Given the description of an element on the screen output the (x, y) to click on. 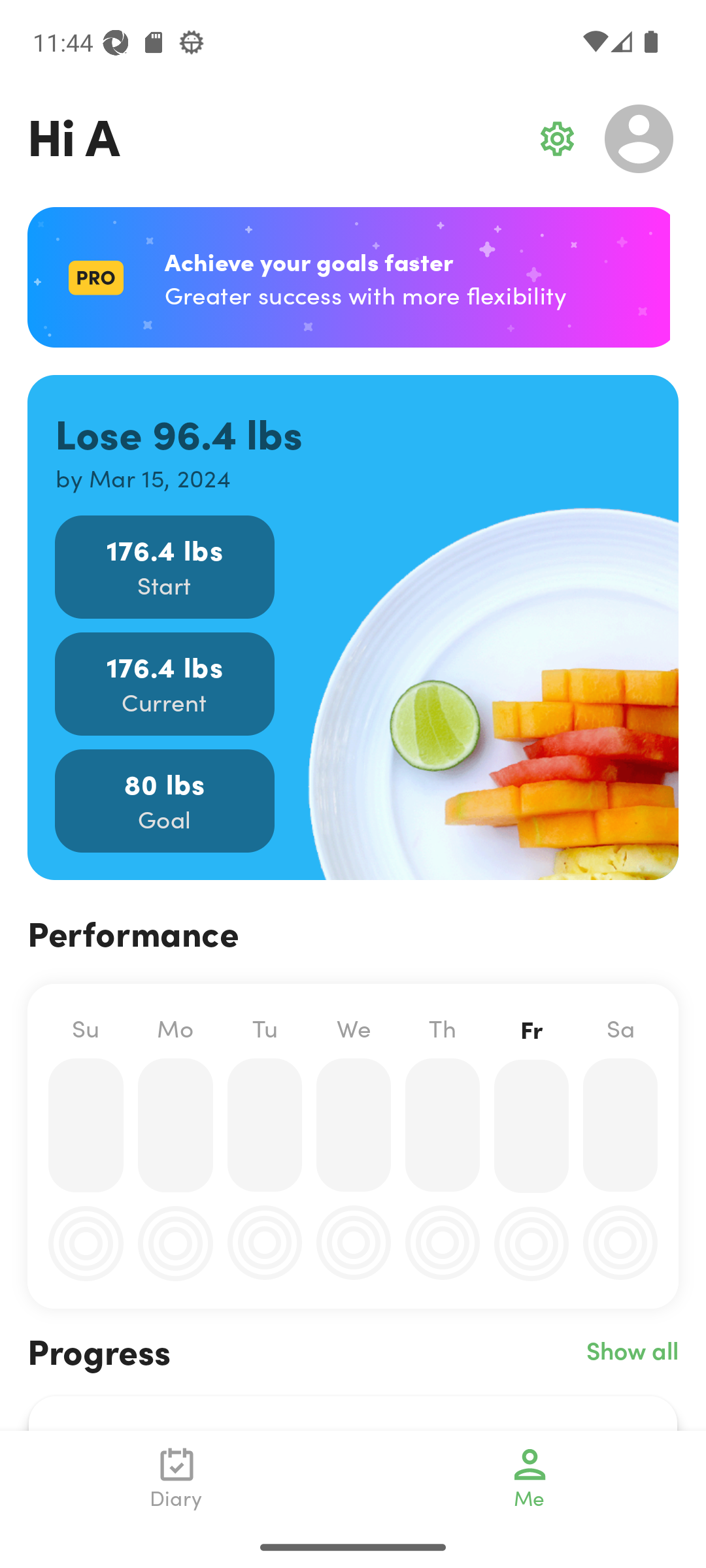
settings_action (556, 138)
profile_photo_action (638, 138)
Diary navigation_icon (176, 1478)
